Given the description of an element on the screen output the (x, y) to click on. 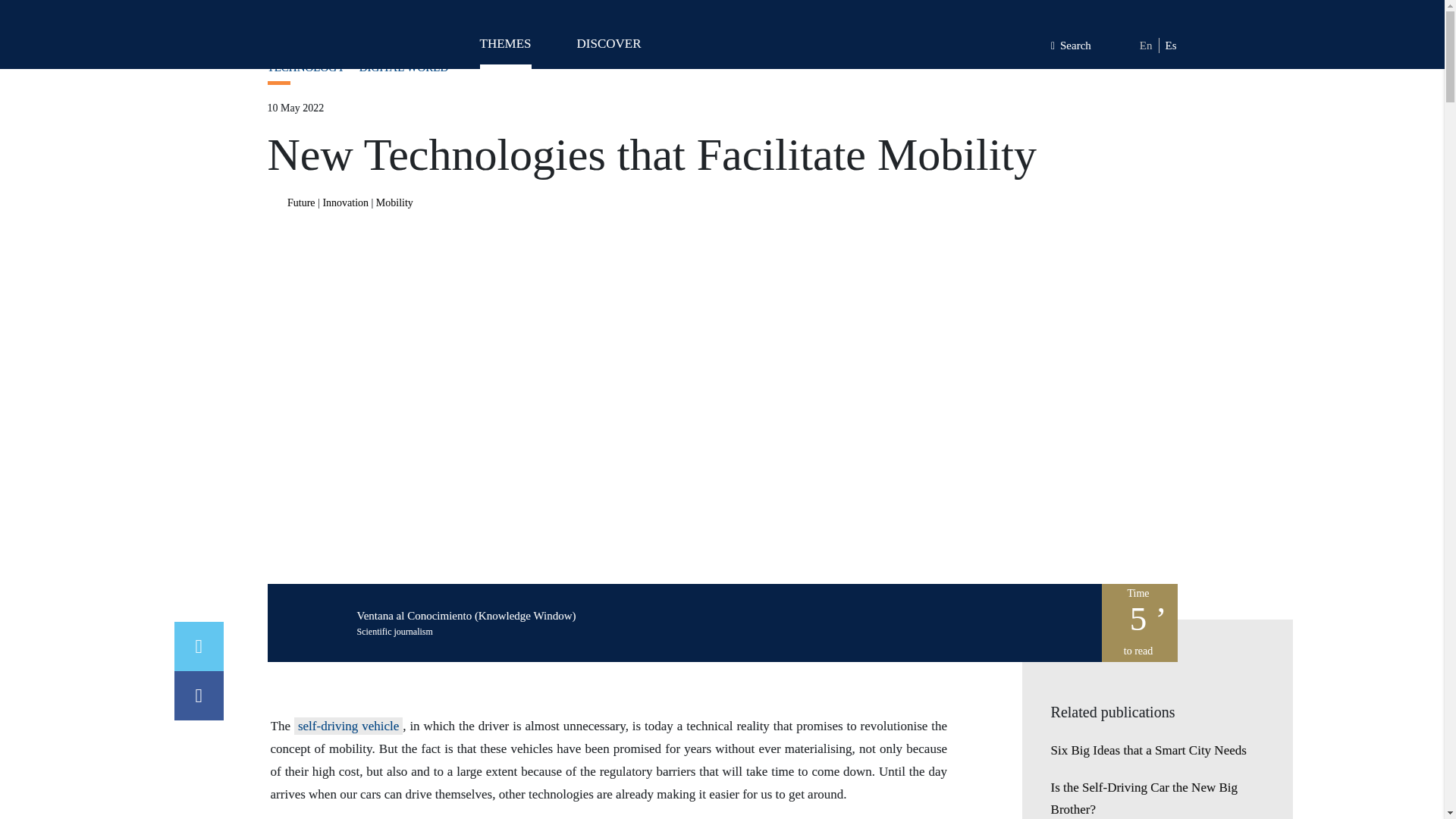
OpenMind (330, 38)
Start (276, 25)
DESCUBRE (608, 50)
TEMAS (505, 50)
OpenMind (330, 38)
